Given the description of an element on the screen output the (x, y) to click on. 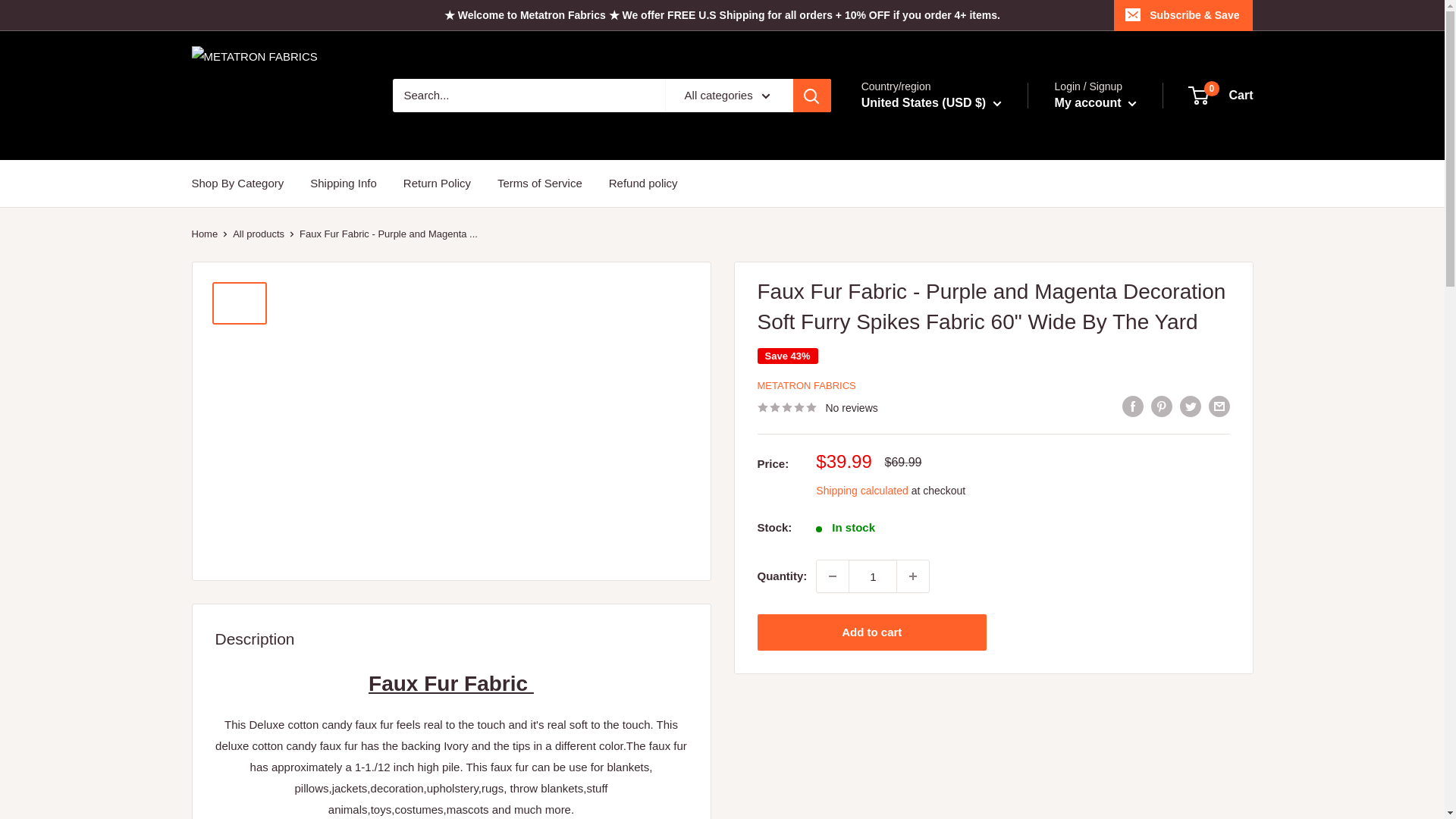
AZ (907, 195)
CC (907, 414)
BN (907, 305)
1 (872, 576)
BH (907, 217)
DE (907, 479)
BD (907, 239)
AU (907, 174)
AF (907, 152)
METATRON FABRICS (275, 94)
